Given the description of an element on the screen output the (x, y) to click on. 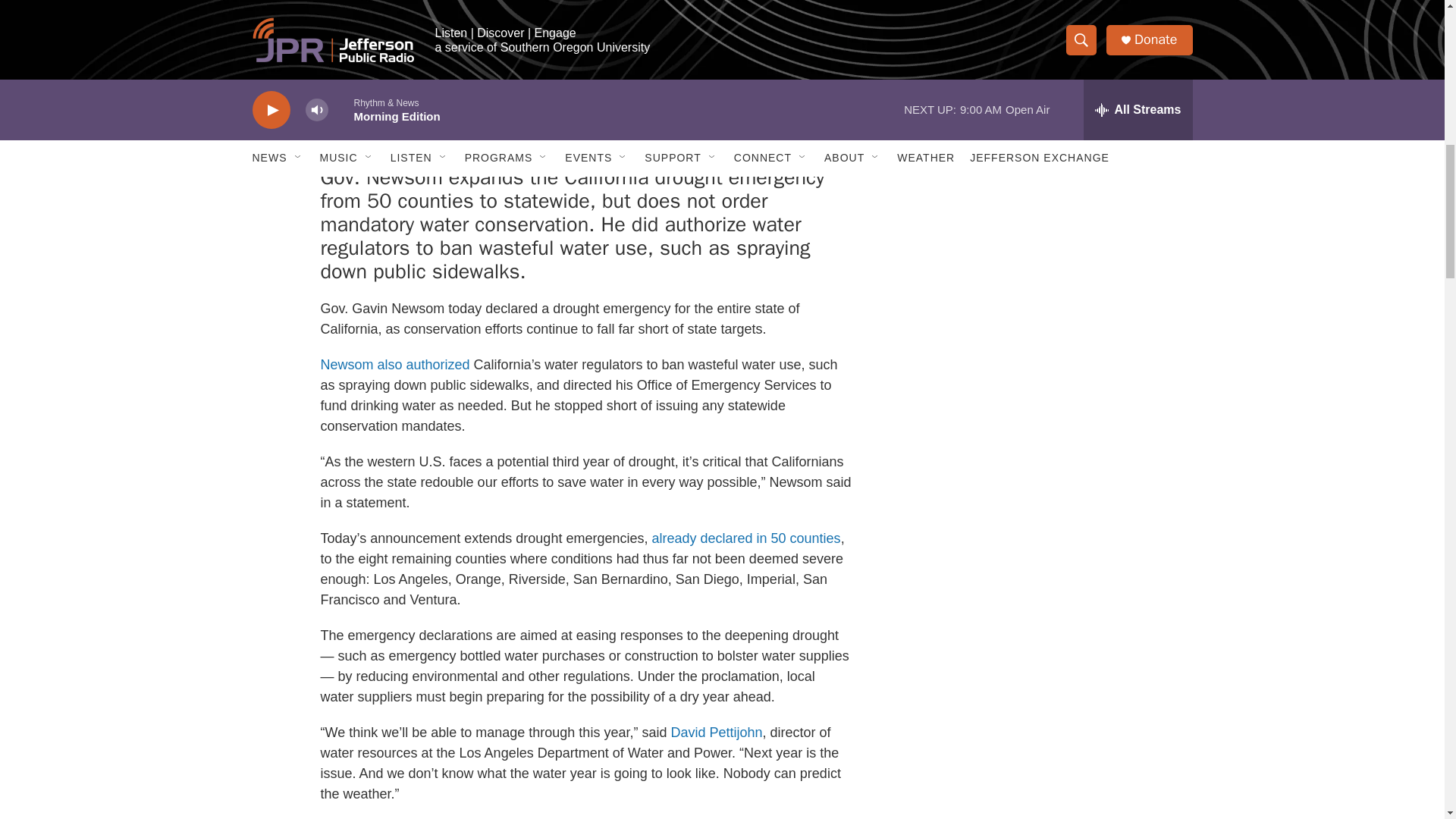
3rd party ad content (1062, 16)
